Given the description of an element on the screen output the (x, y) to click on. 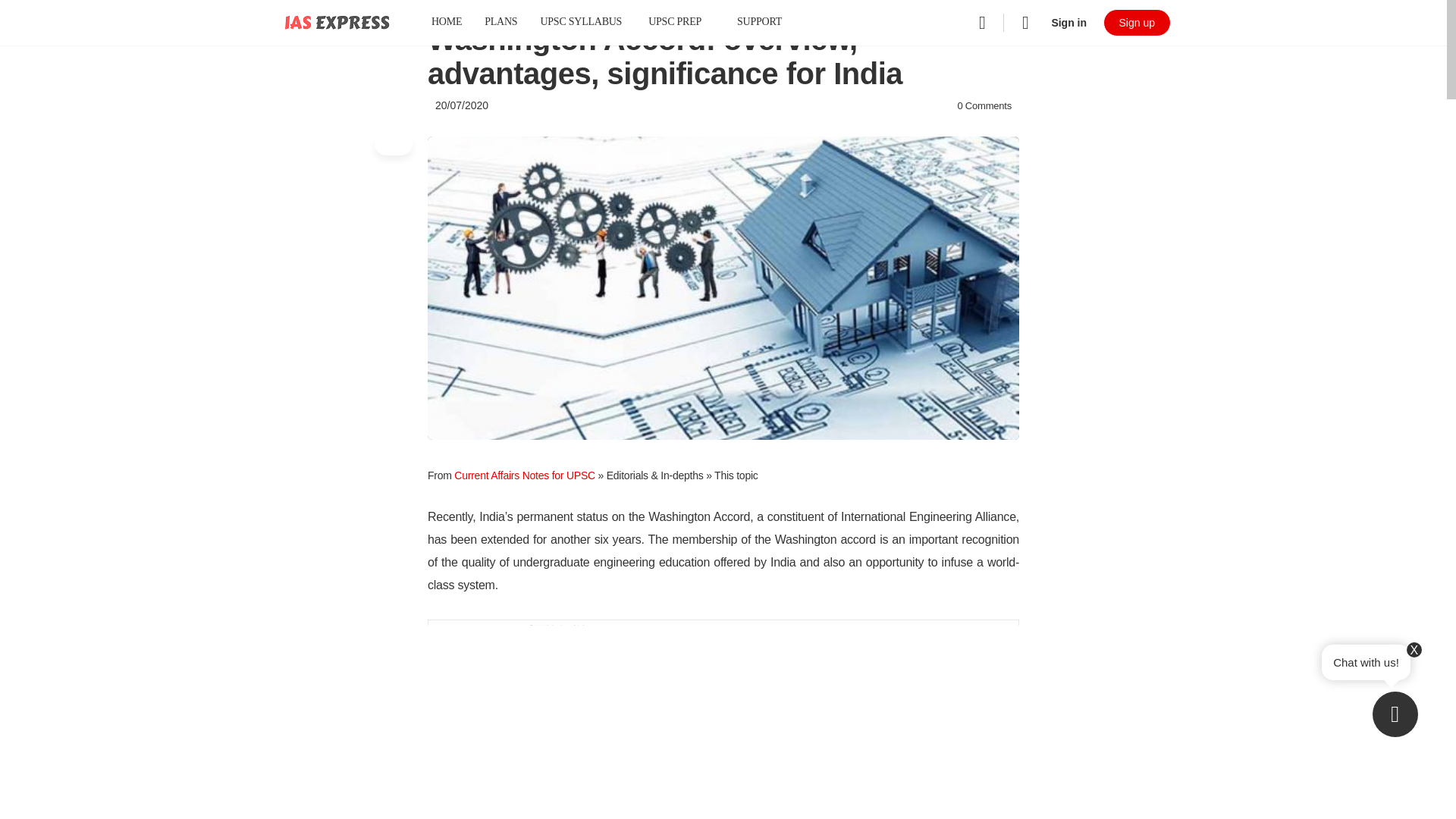
UPSC SYLLABUS (580, 22)
HOME (445, 22)
UPSC PREP (681, 22)
PLANS (500, 22)
